Given the description of an element on the screen output the (x, y) to click on. 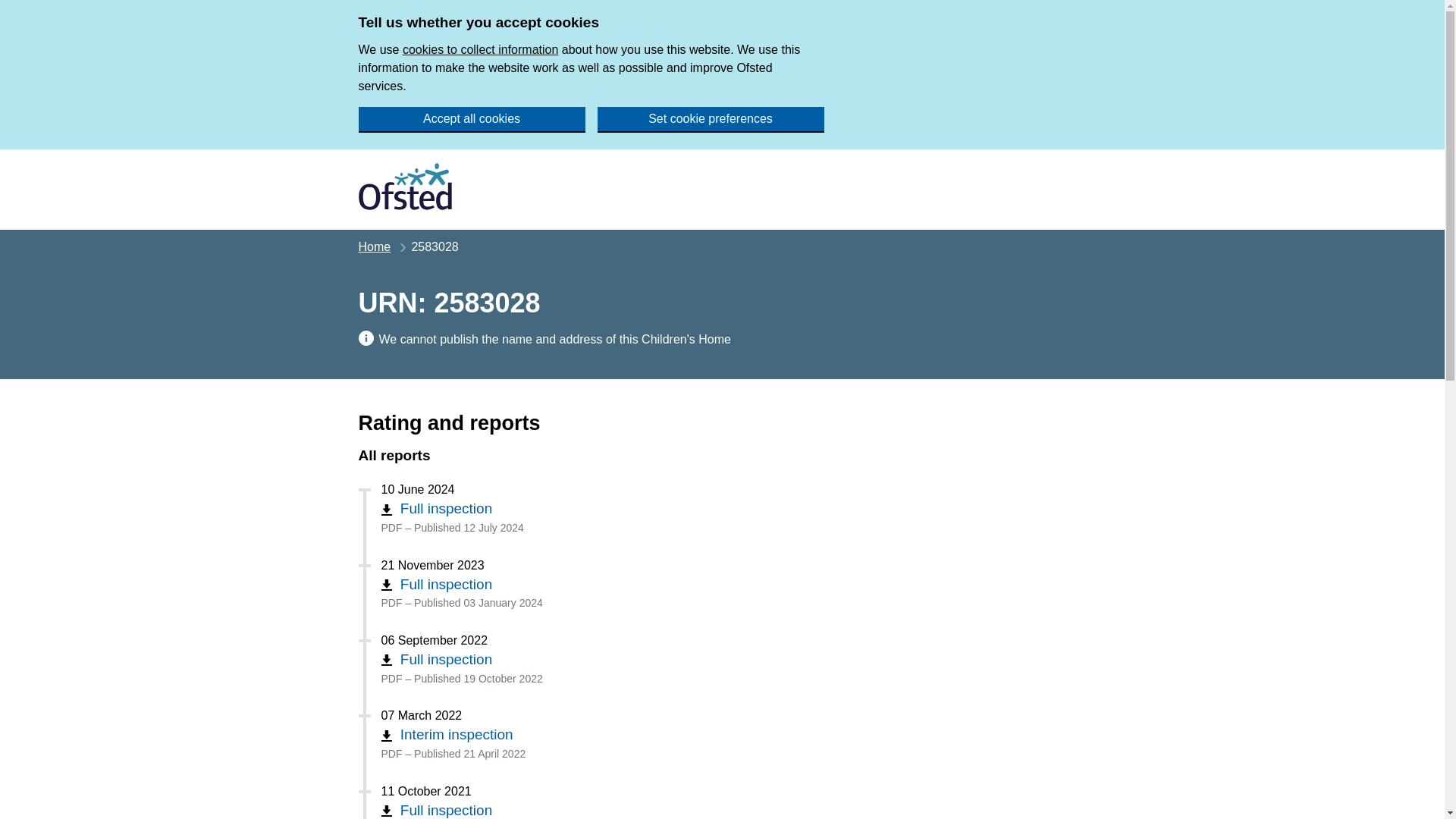
Home (374, 246)
Set cookie preferences (710, 119)
Accept all cookies (471, 119)
Interim inspection (446, 734)
Full inspection (436, 659)
Full inspection (436, 584)
Full inspection (436, 508)
Full inspection (436, 810)
cookies to collect information (480, 49)
